Given the description of an element on the screen output the (x, y) to click on. 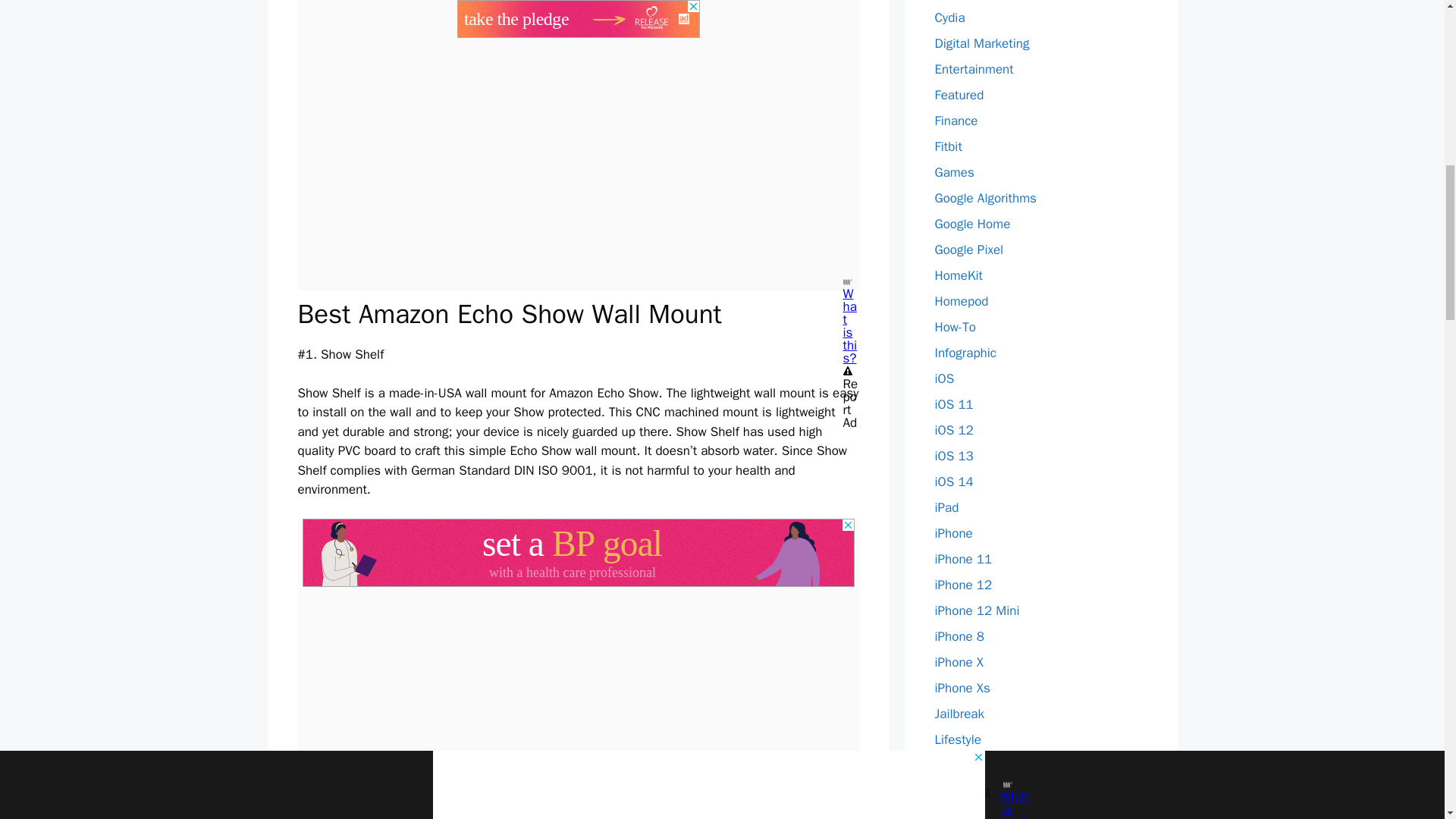
3rd party ad content (577, 552)
